Given the description of an element on the screen output the (x, y) to click on. 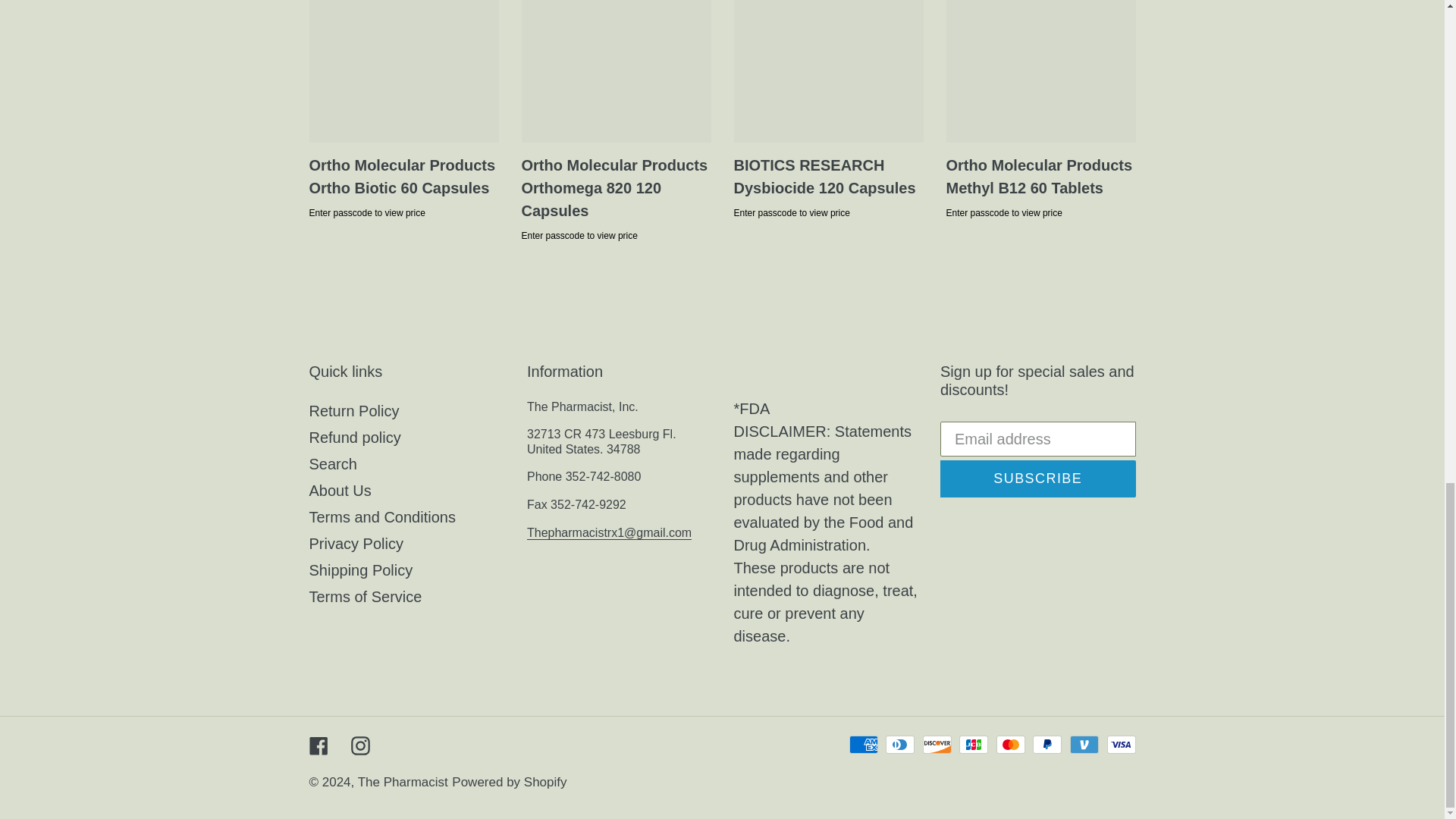
Refund policy (354, 437)
Return Policy (353, 410)
Search (332, 463)
Terms and Conditions (381, 516)
About Us (339, 490)
